Given the description of an element on the screen output the (x, y) to click on. 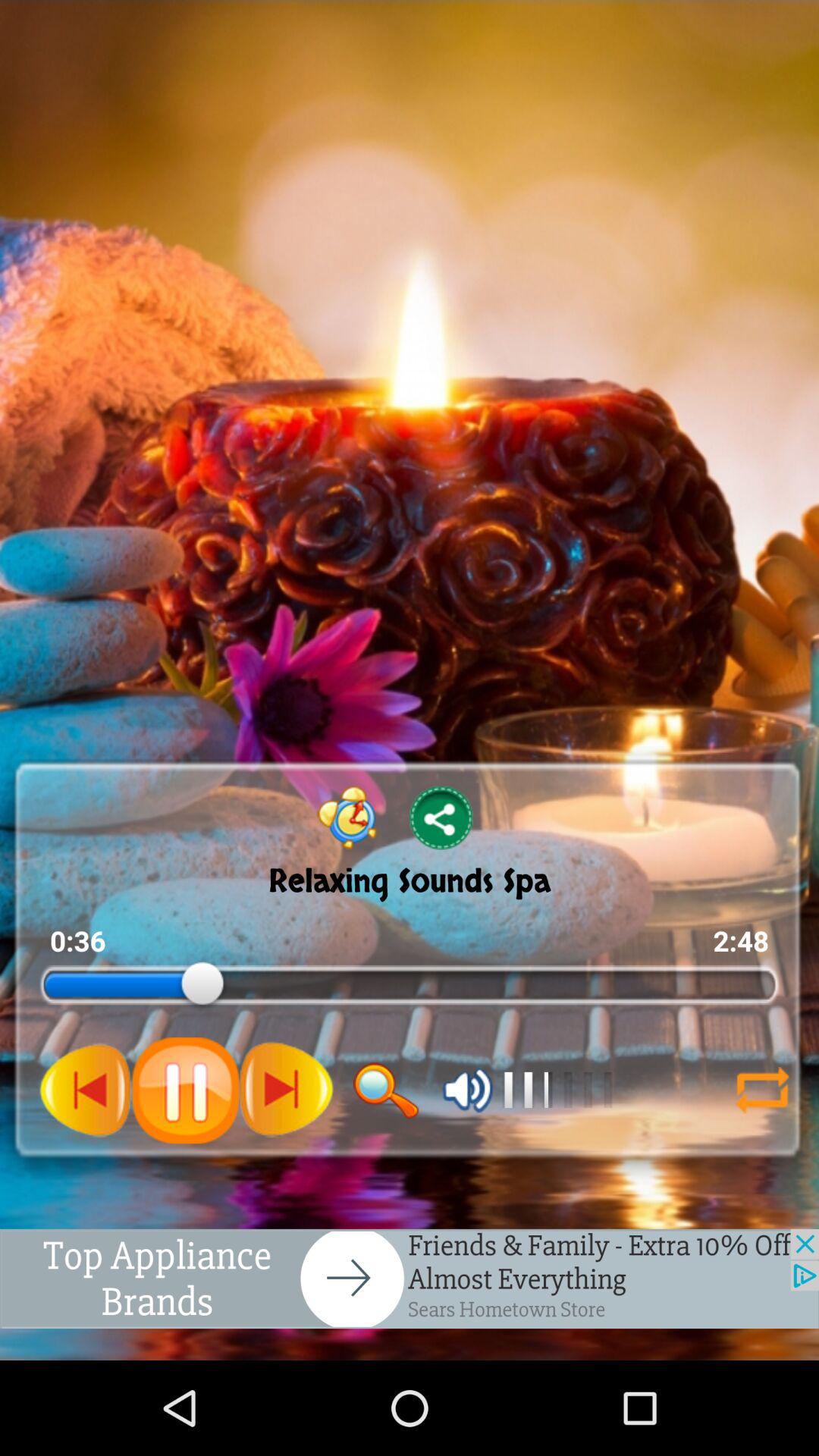
share options (441, 817)
